Given the description of an element on the screen output the (x, y) to click on. 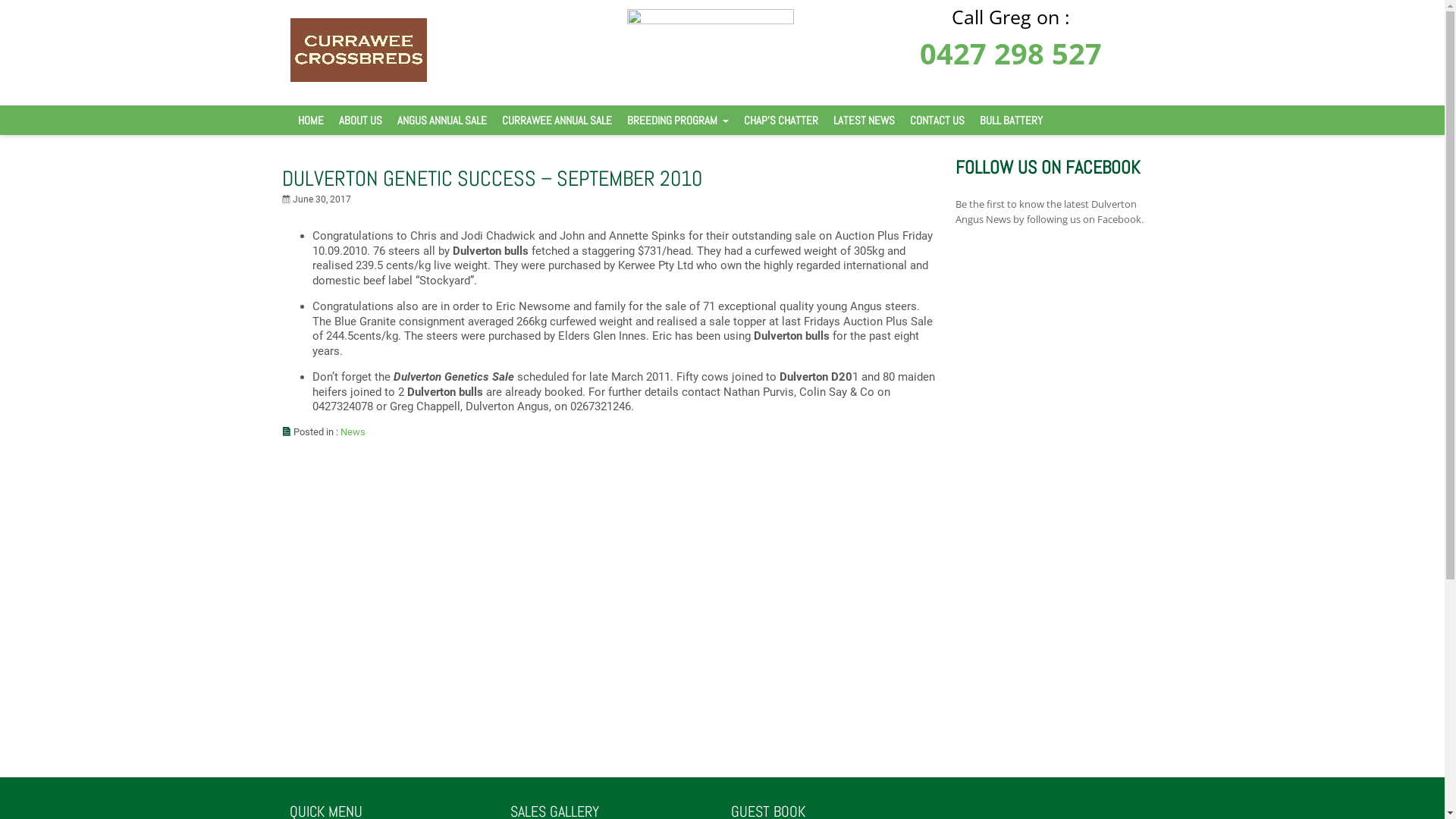
0427 298 527 Element type: text (1010, 52)
ABOUT US Element type: text (359, 119)
News Element type: text (352, 431)
CONTACT US Element type: text (937, 119)
LATEST NEWS Element type: text (863, 119)
ANGUS ANNUAL SALE Element type: text (441, 119)
CURRAWEE ANNUAL SALE Element type: text (556, 119)
HOME Element type: text (309, 119)
Dulverton Angus Stud Element type: hover (357, 77)
BULL BATTERY Element type: text (1011, 119)
BREEDING PROGRAM Element type: text (676, 119)
